Given the description of an element on the screen output the (x, y) to click on. 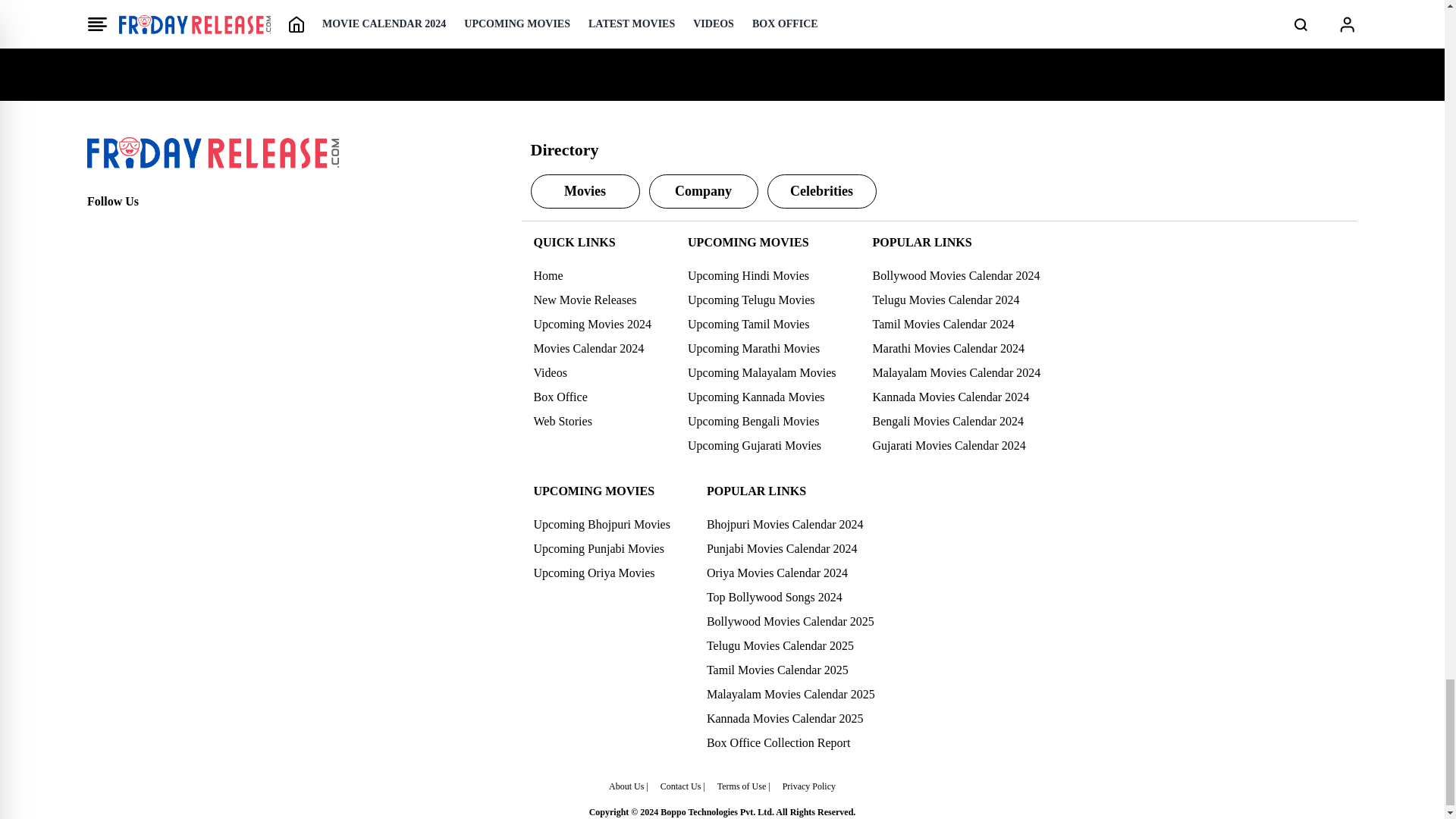
Youtube Page (199, 228)
Twitter Page (132, 228)
Instagram Page (165, 228)
Facebook Page (99, 228)
